Given the description of an element on the screen output the (x, y) to click on. 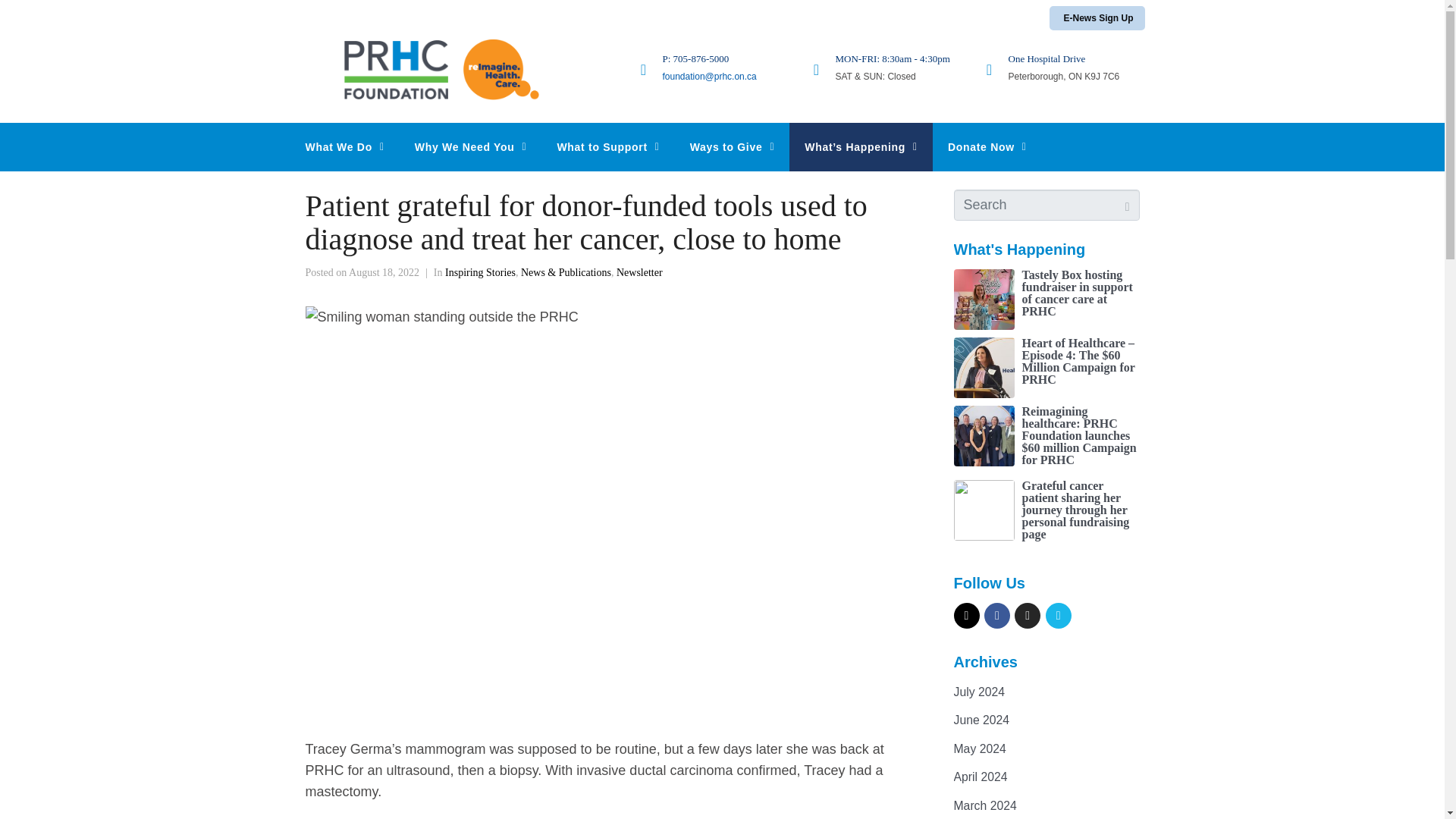
P: 705-876-5000 (695, 58)
E-News Sign Up (1096, 17)
One Hospital Drive (1047, 58)
MON-FRI: 8:30am - 4:30pm (892, 58)
